Given the description of an element on the screen output the (x, y) to click on. 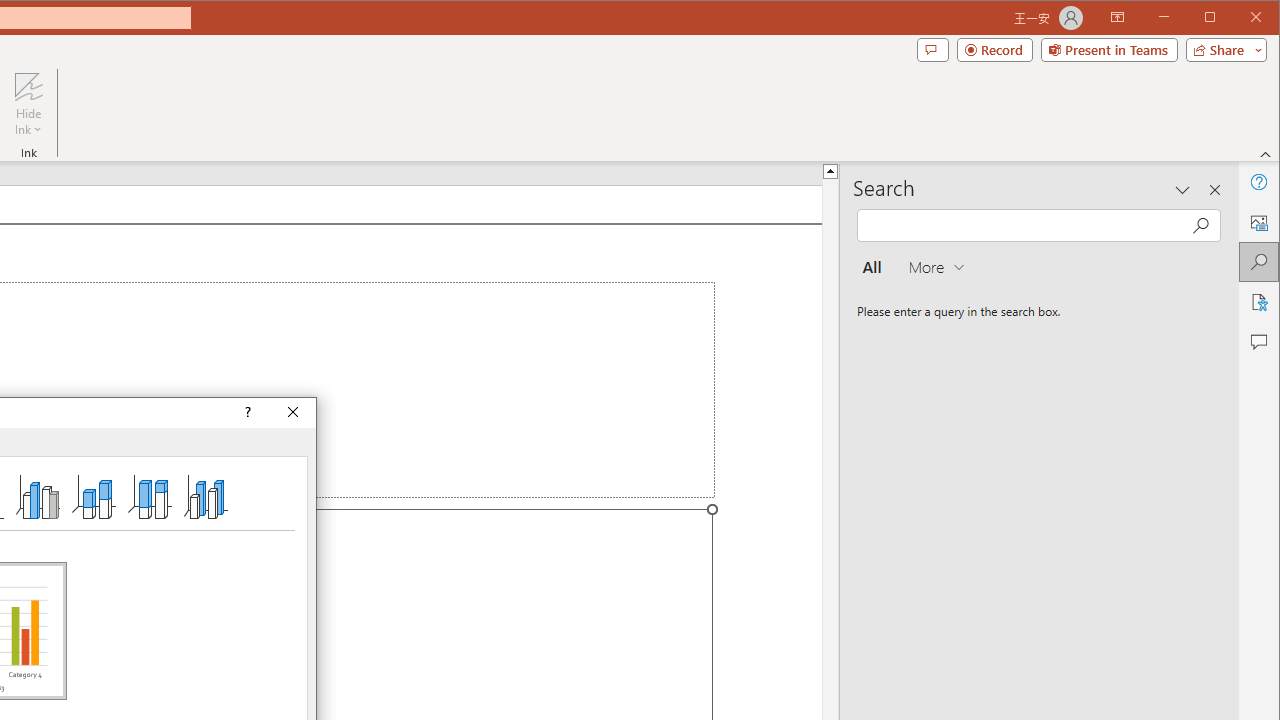
3-D Column (205, 496)
3-D Clustered Column (38, 496)
